Given the description of an element on the screen output the (x, y) to click on. 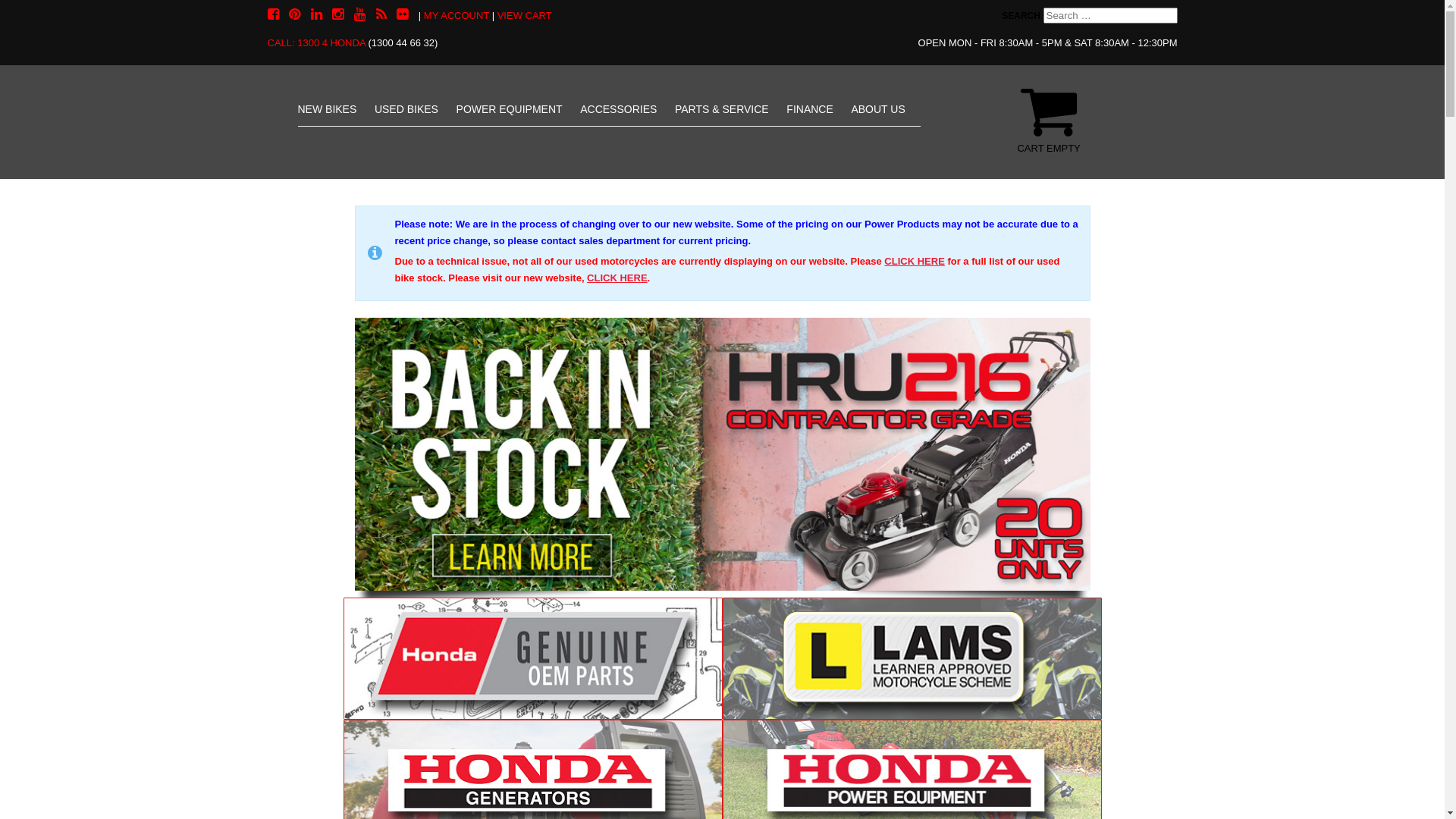
Search Element type: text (57, 20)
MY ACCOUNT Element type: text (456, 15)
USED BIKES Element type: text (406, 109)
POWER EQUIPMENT Element type: text (509, 109)
PARTS & SERVICE Element type: text (721, 109)
CLICK HERE Element type: text (914, 260)
CLICK HERE Element type: text (616, 277)
ACCESSORIES Element type: text (618, 109)
FINANCE Element type: text (809, 109)
NEW BIKES Element type: text (326, 109)
CALL: 1300 4 HONDA Element type: text (315, 41)
VIEW CART Element type: text (524, 15)
ABOUT US Element type: text (877, 109)
